Given the description of an element on the screen output the (x, y) to click on. 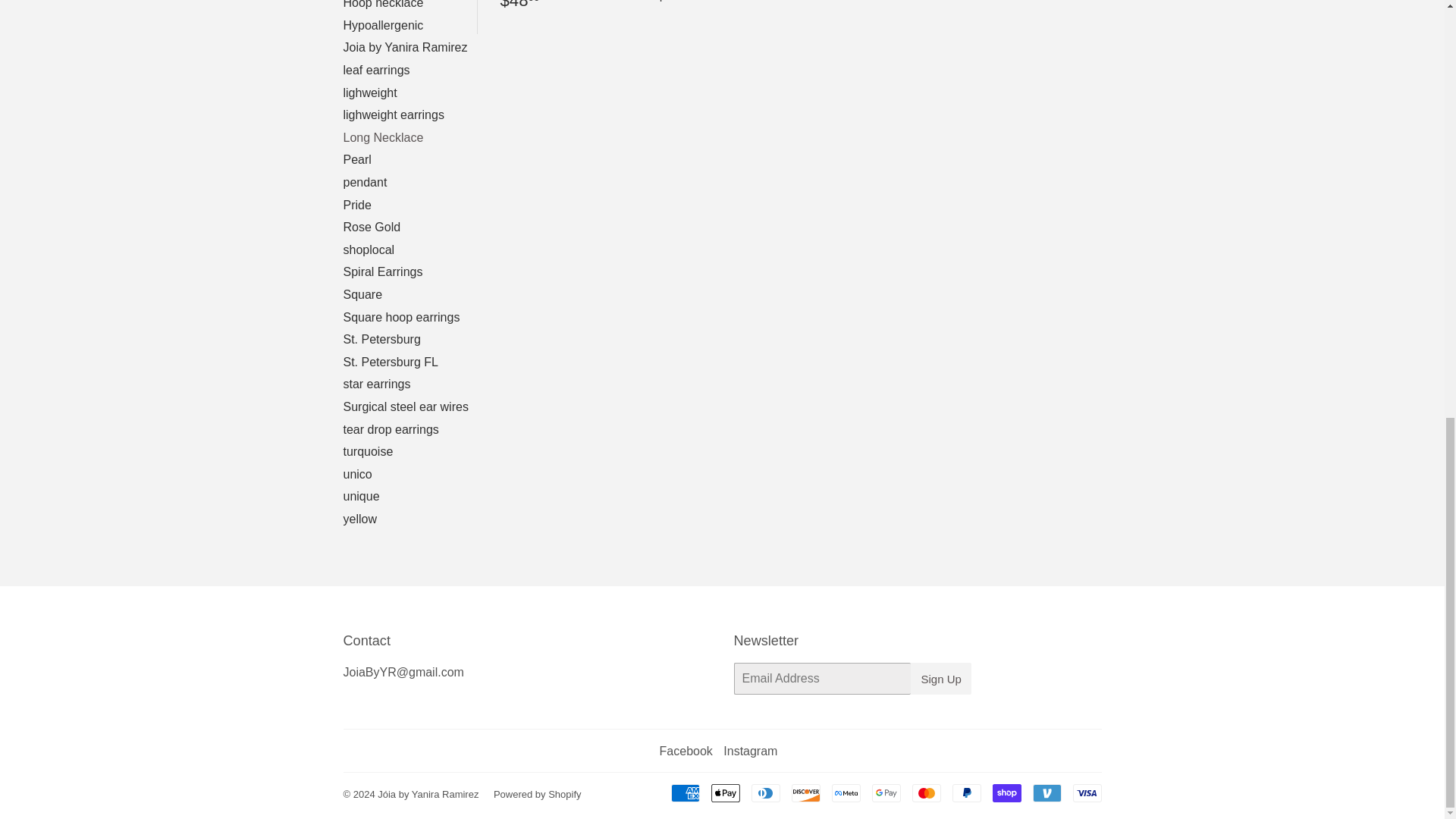
Venmo (1046, 792)
Meta Pay (845, 792)
Discover (806, 792)
American Express (683, 792)
Mastercard (925, 792)
Google Pay (886, 792)
Shop Pay (1005, 792)
Visa (1085, 792)
Apple Pay (725, 792)
PayPal (966, 792)
Diners Club (764, 792)
